Given the description of an element on the screen output the (x, y) to click on. 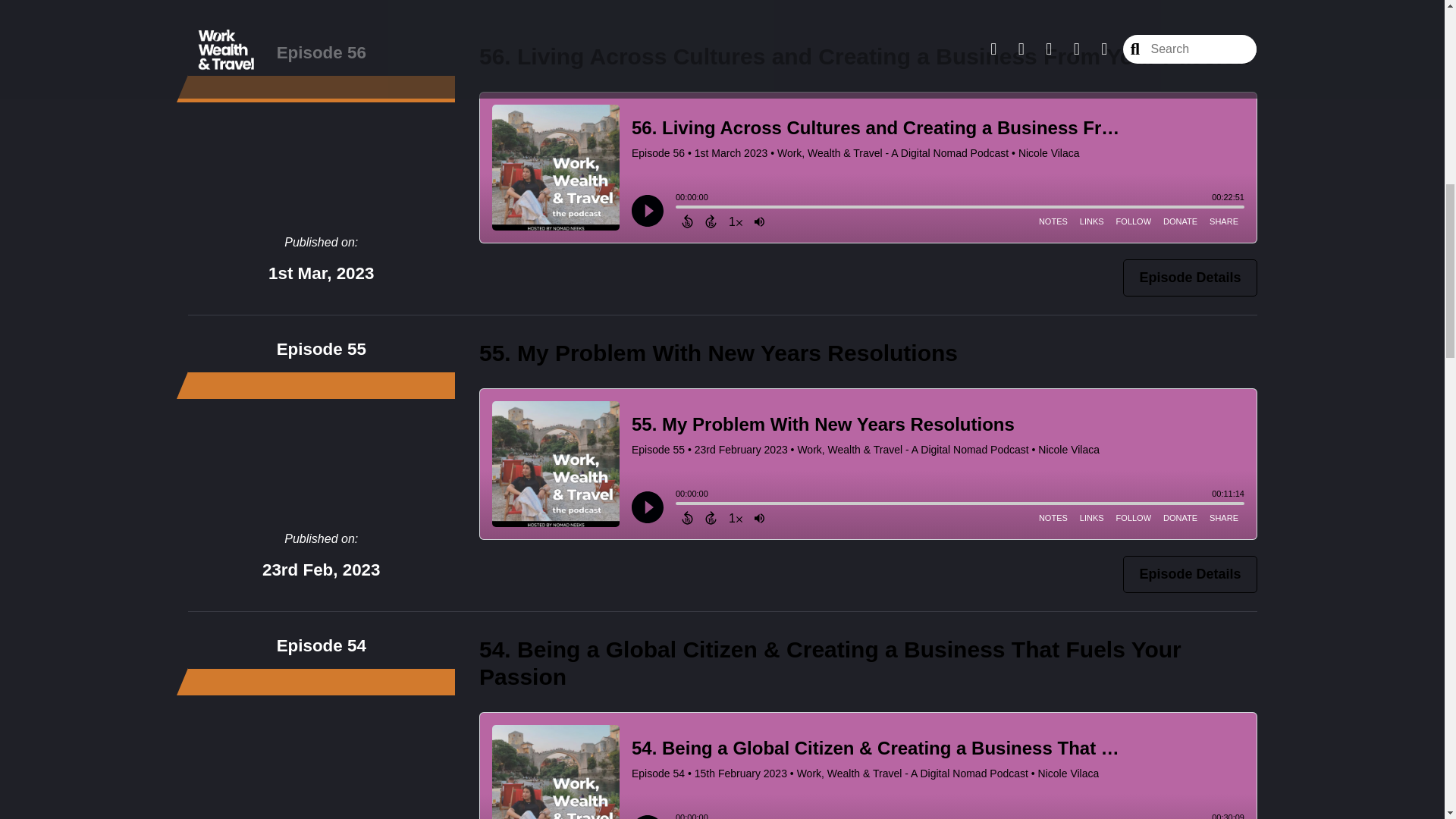
Episode Details (1189, 574)
55. My Problem With New Years Resolutions (718, 352)
Episode Details (1189, 277)
